Given the description of an element on the screen output the (x, y) to click on. 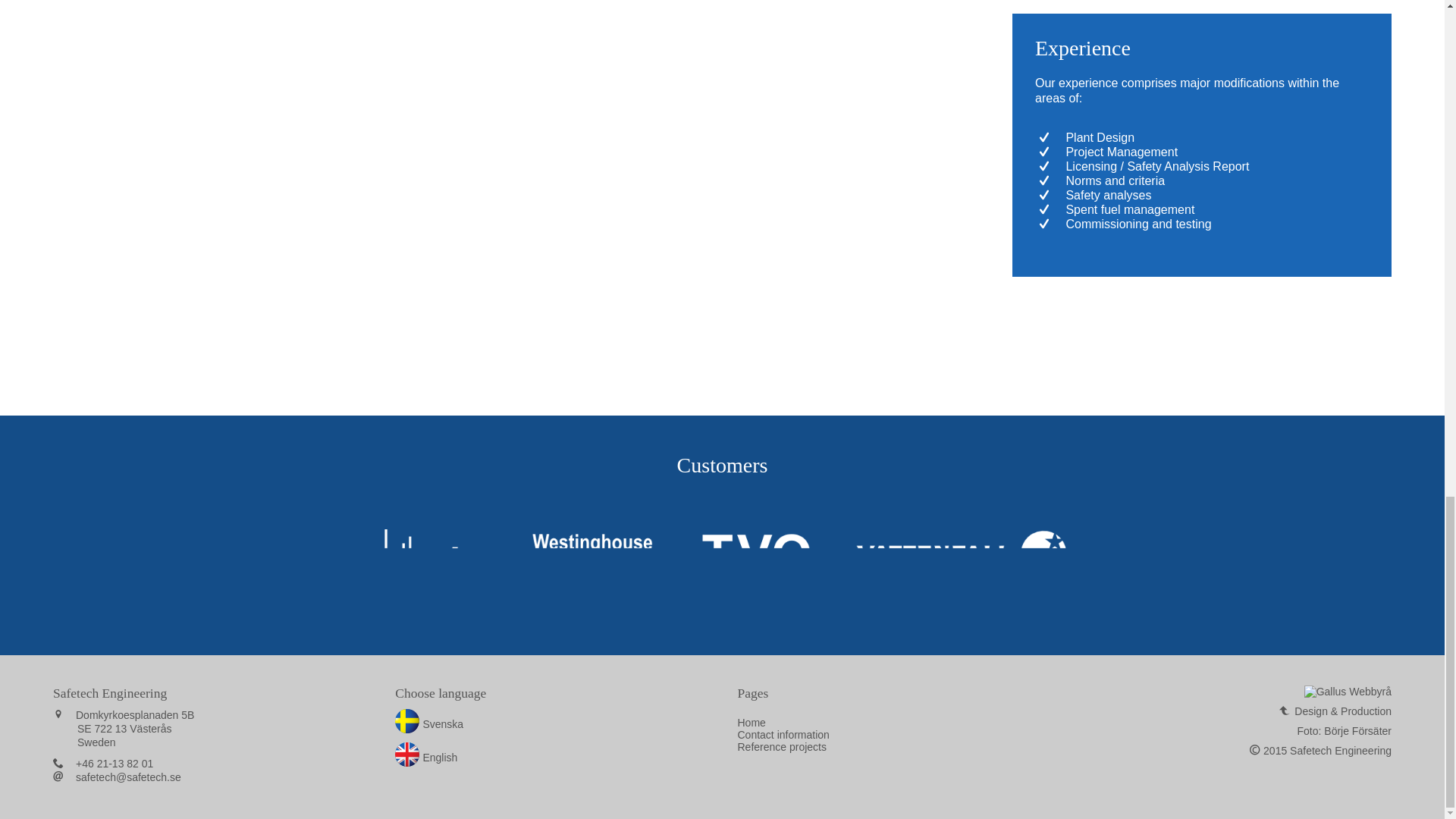
Reference projects (781, 746)
English (425, 757)
Home (750, 722)
Svenska (428, 724)
Contact information (782, 734)
